Given the description of an element on the screen output the (x, y) to click on. 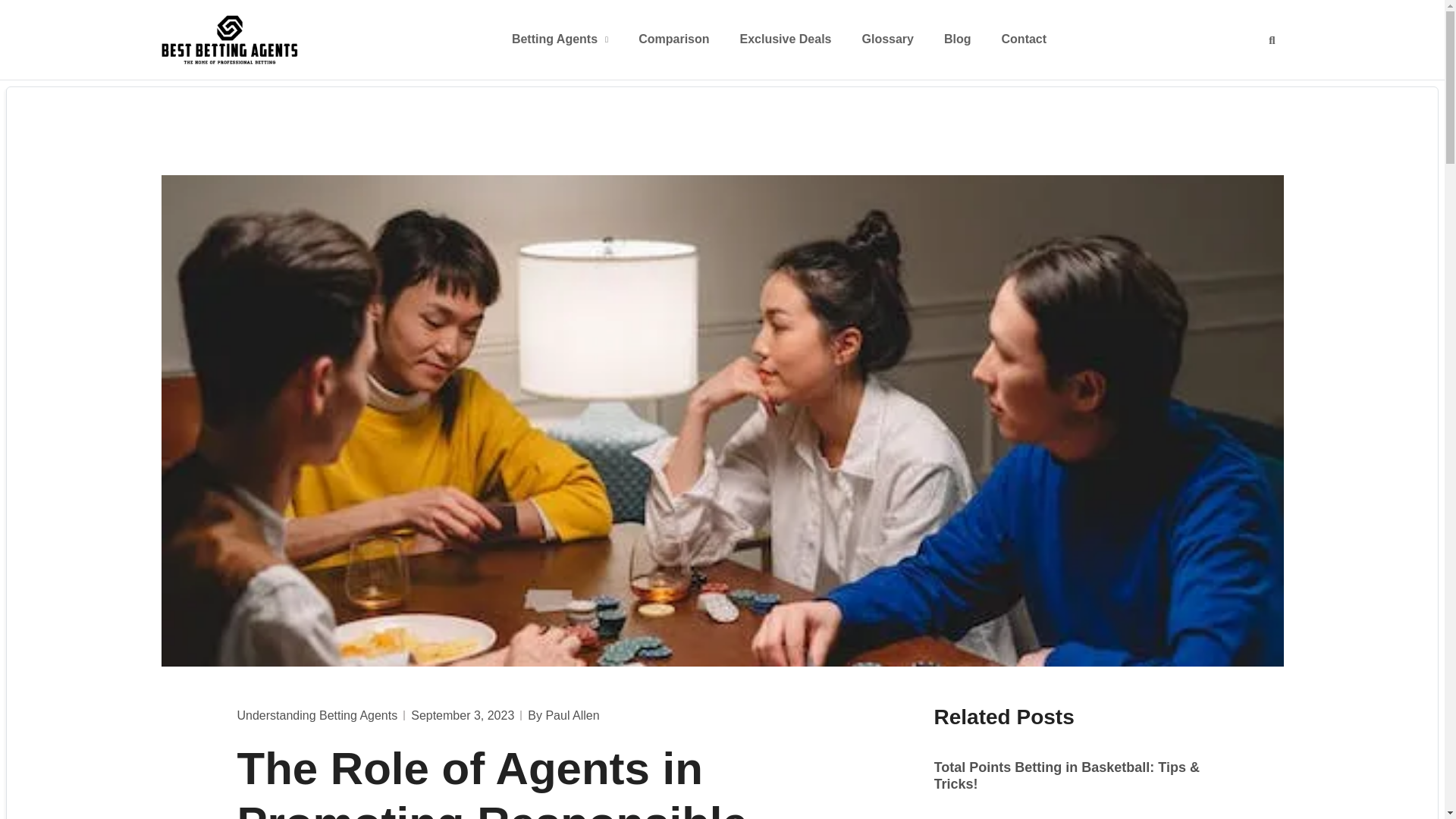
Exclusive Deals (785, 38)
Betting Agents (560, 38)
Blog (957, 38)
Contact (1023, 38)
Understanding Betting Agents (316, 715)
Comparison (674, 38)
September 3, 2023 (461, 715)
Glossary (886, 38)
